Given the description of an element on the screen output the (x, y) to click on. 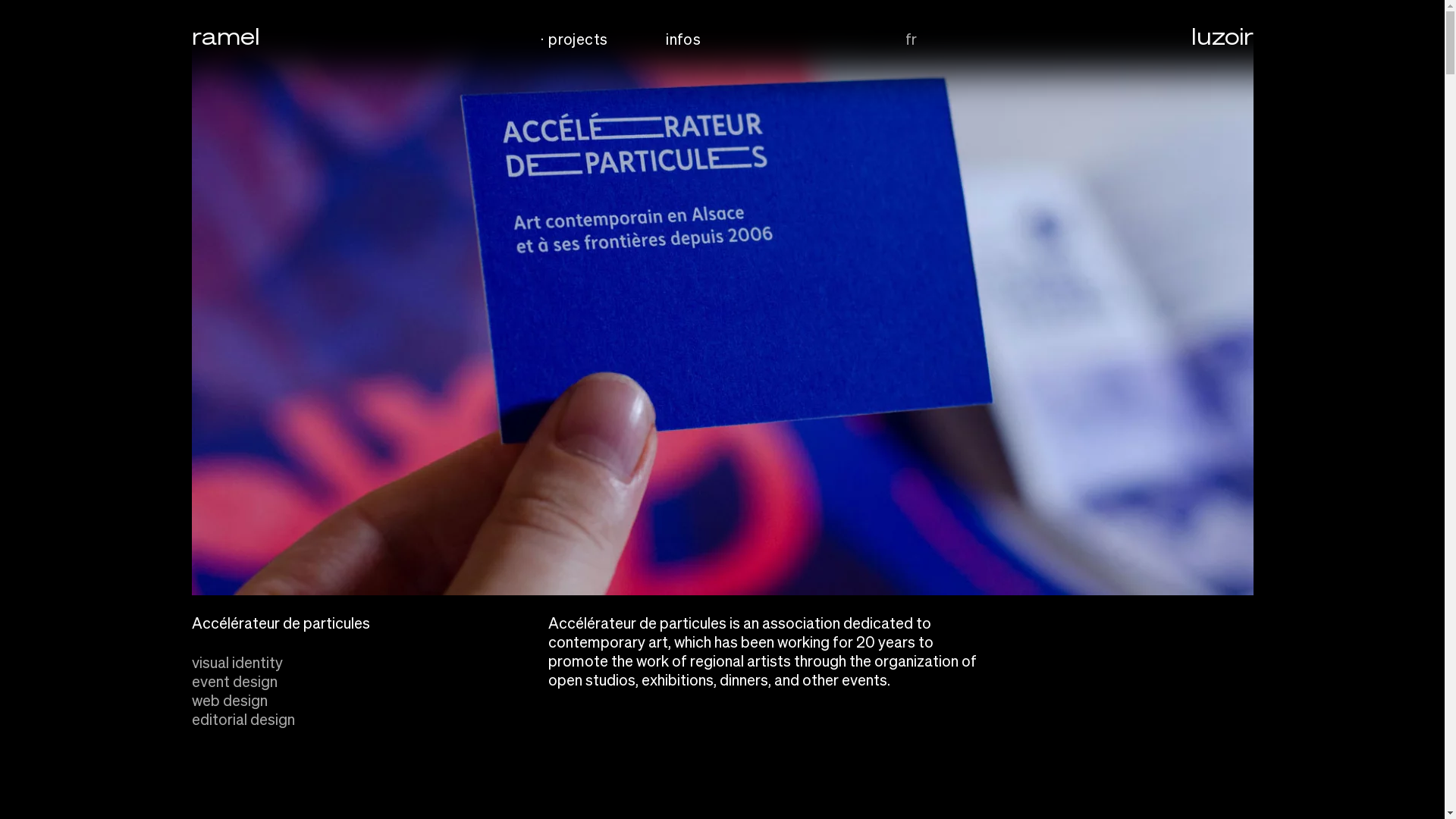
infos (682, 38)
projects (577, 38)
